Given the description of an element on the screen output the (x, y) to click on. 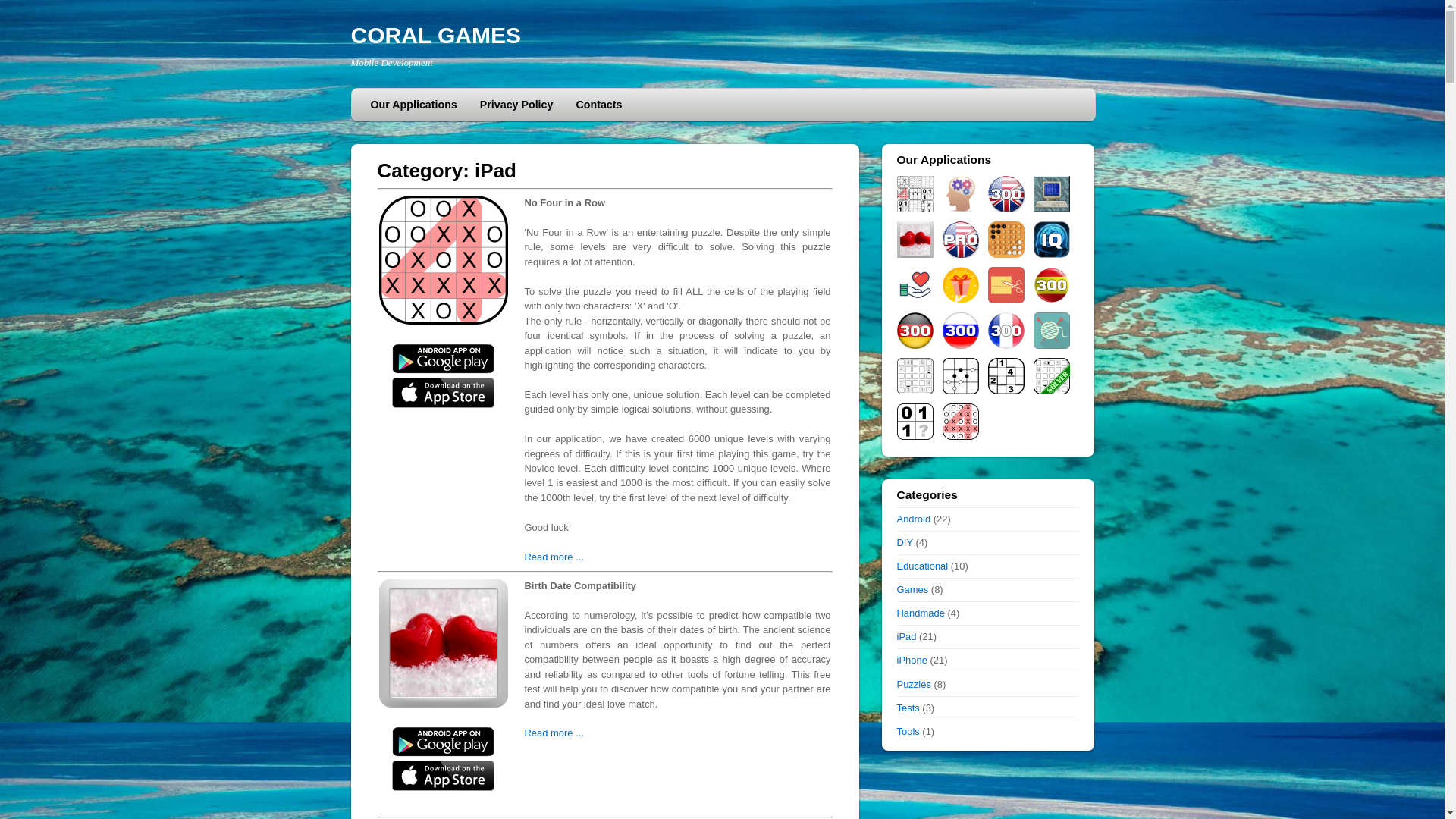
Read more ... Element type: text (553, 732)
Our Applications Element type: text (413, 104)
Marble Checkers Element type: hover (1005, 239)
Android Element type: text (913, 518)
Tests Element type: text (907, 707)
iPhone Element type: text (911, 659)
NetGame Element type: hover (1050, 193)
Learn Top 300 German Words Element type: hover (914, 330)
Educational Element type: text (921, 565)
Privacy Policy Element type: text (516, 104)
Puzzles Element type: text (913, 684)
Contacts Element type: text (598, 104)
Tools Element type: text (907, 731)
Binary.1001 Element type: hover (914, 421)
Suguru Element type: hover (1005, 375)
Bennet Test Element type: hover (959, 193)
DIY Element type: text (904, 542)
Learn Top 300 Russian Words Element type: hover (959, 330)
CORAL GAMES Element type: text (435, 34)
Learn Top 300 English Words Element type: hover (1005, 193)
Games Element type: text (912, 589)
Learn Top 300 French Words Element type: hover (1005, 330)
Handmade Element type: text (920, 612)
Read more ... Element type: text (553, 556)
Puzzles: All-In-One Element type: hover (914, 193)
What is my IQ Element type: hover (1050, 239)
iPad Element type: text (906, 636)
Futoshiki Element type: hover (914, 375)
No Four in a Row Element type: hover (959, 421)
Kropki Puzzle Element type: hover (959, 375)
Learn Top 300 Spanish Words Element type: hover (1050, 284)
Birth Date Compatibility Element type: hover (914, 239)
Puzzle Solver Element type: hover (1050, 375)
